Given the description of an element on the screen output the (x, y) to click on. 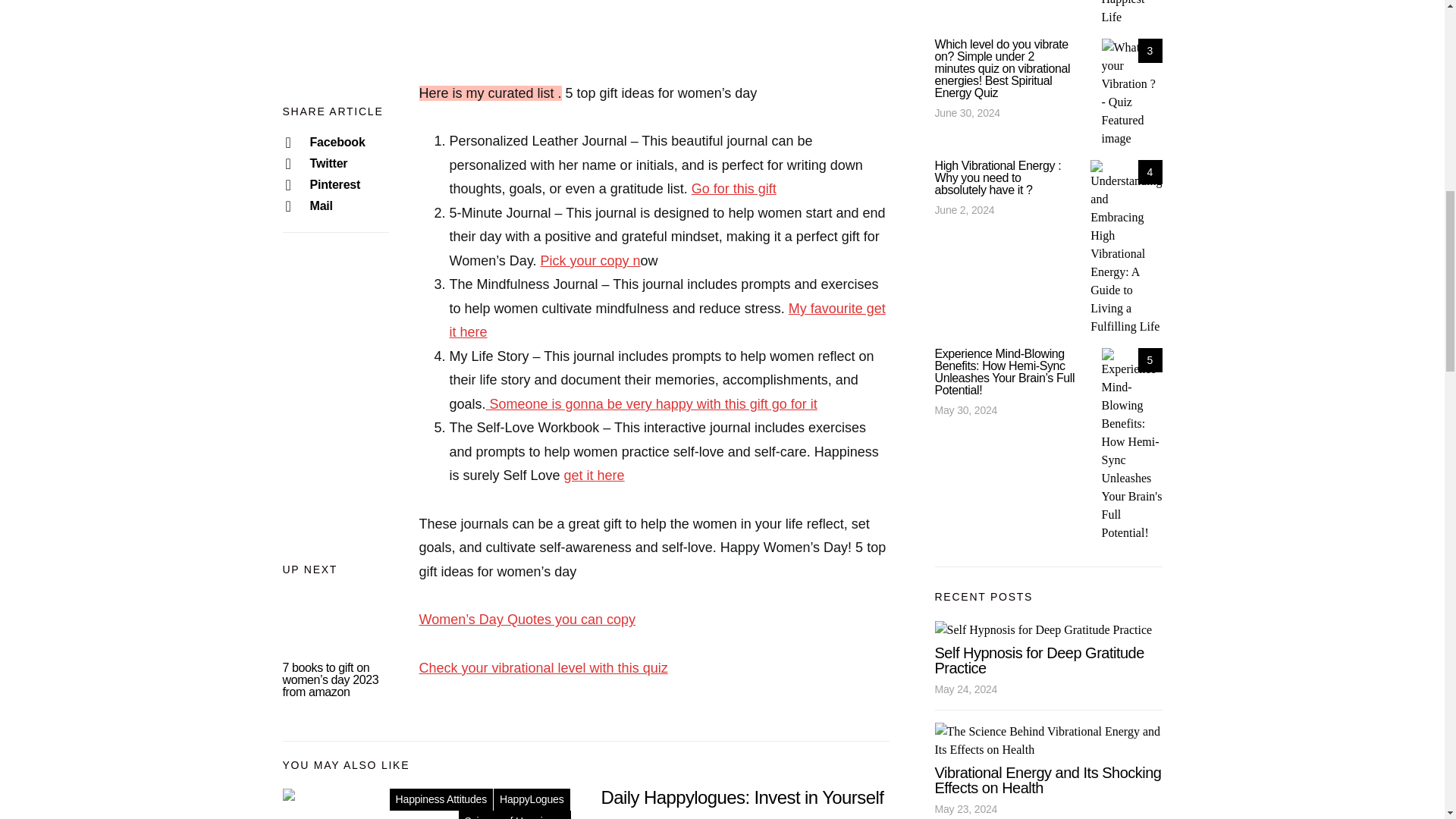
Pinterest (335, 92)
Facebook (335, 49)
Go for this gift (733, 188)
Mail (335, 113)
Twitter (335, 70)
